Given the description of an element on the screen output the (x, y) to click on. 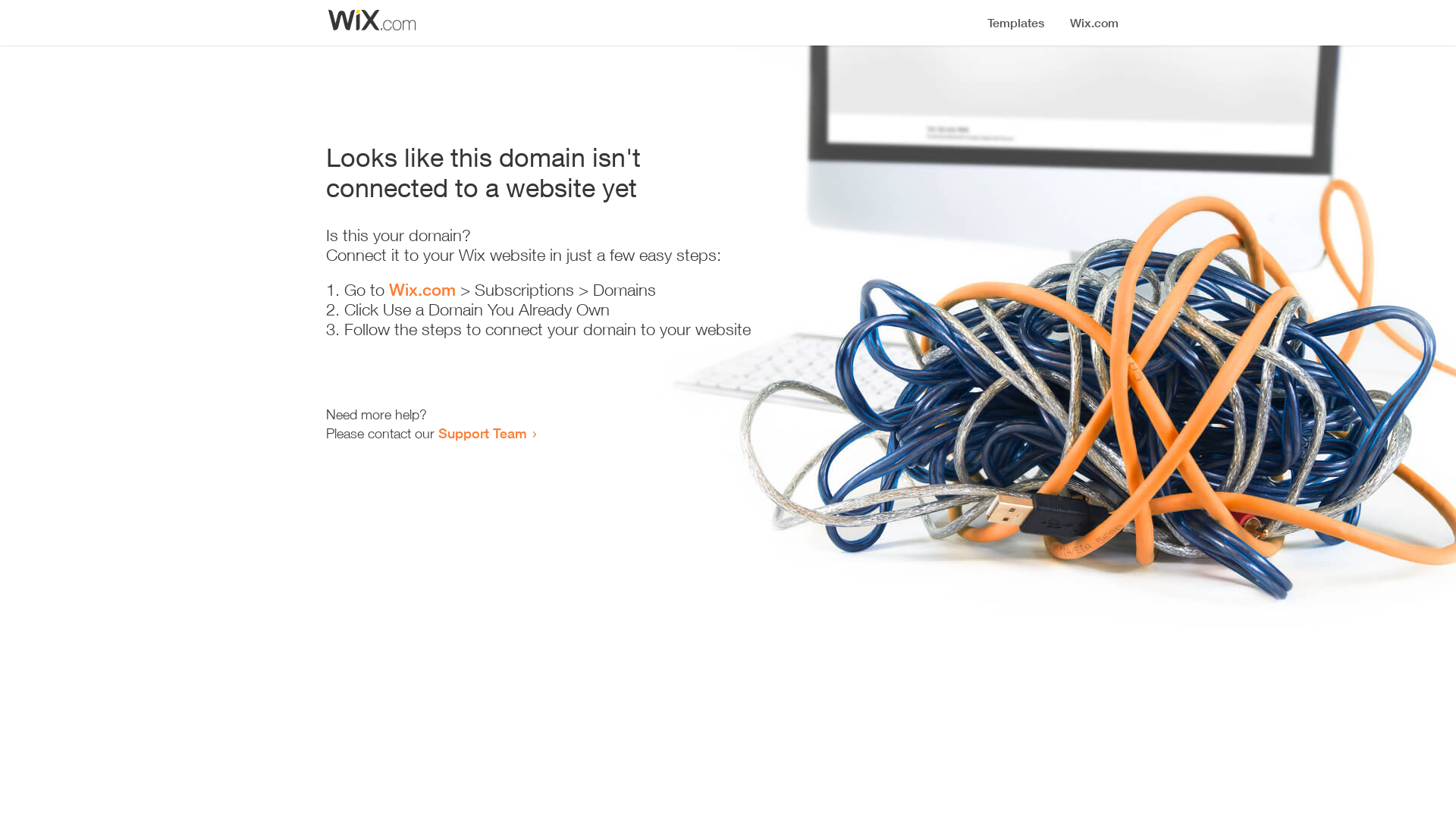
Support Team Element type: text (482, 432)
Wix.com Element type: text (422, 289)
